Given the description of an element on the screen output the (x, y) to click on. 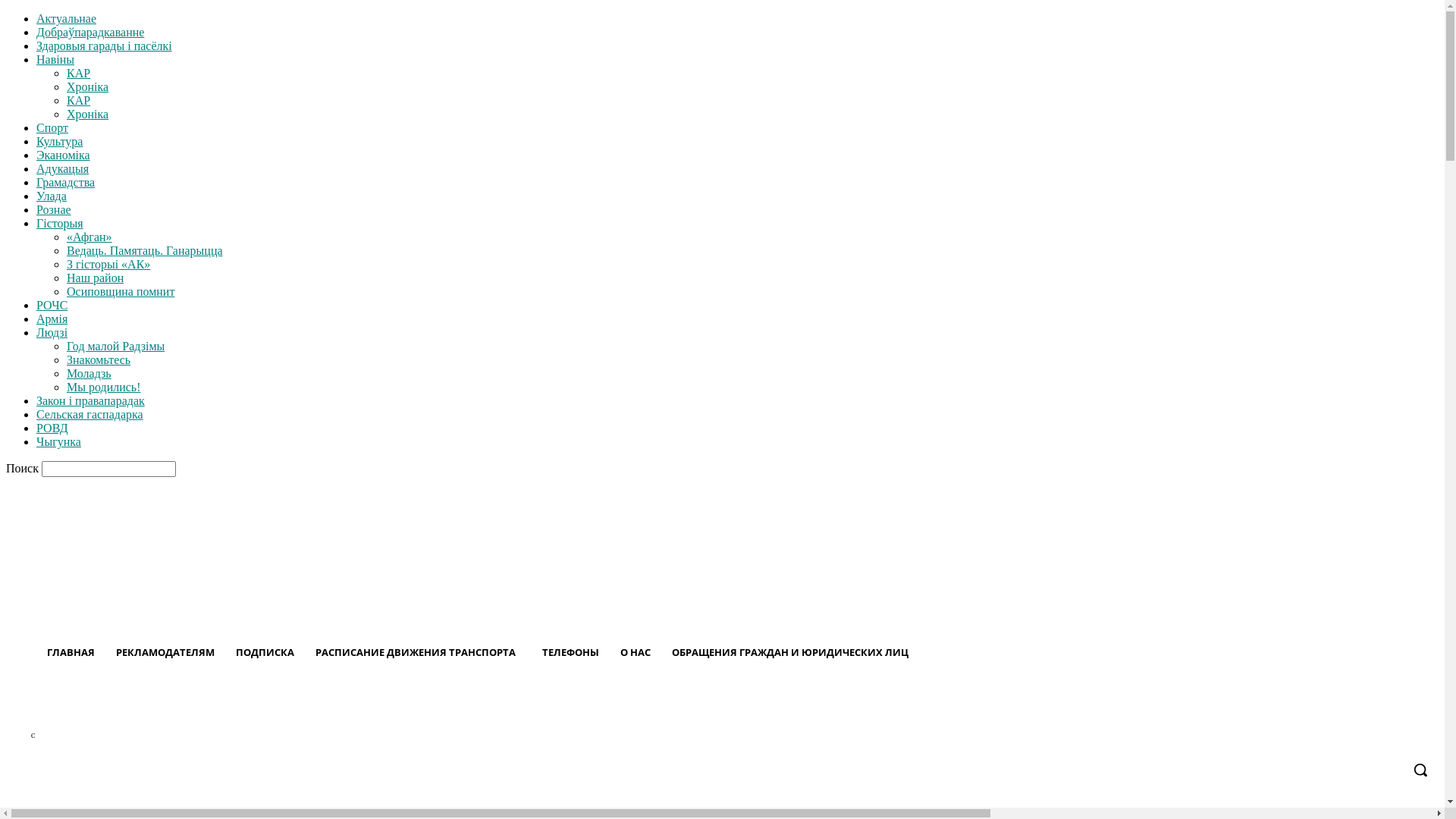
Facebook Element type: hover (1027, 709)
Youtube Element type: hover (1196, 709)
VKontakte Element type: hover (1168, 709)
RSS Element type: hover (1084, 709)
Forgot your password? Get help Element type: text (84, 558)
Telegram Element type: hover (1112, 709)
Instagram Element type: hover (1056, 709)
Twitter Element type: hover (1140, 709)
